Given the description of an element on the screen output the (x, y) to click on. 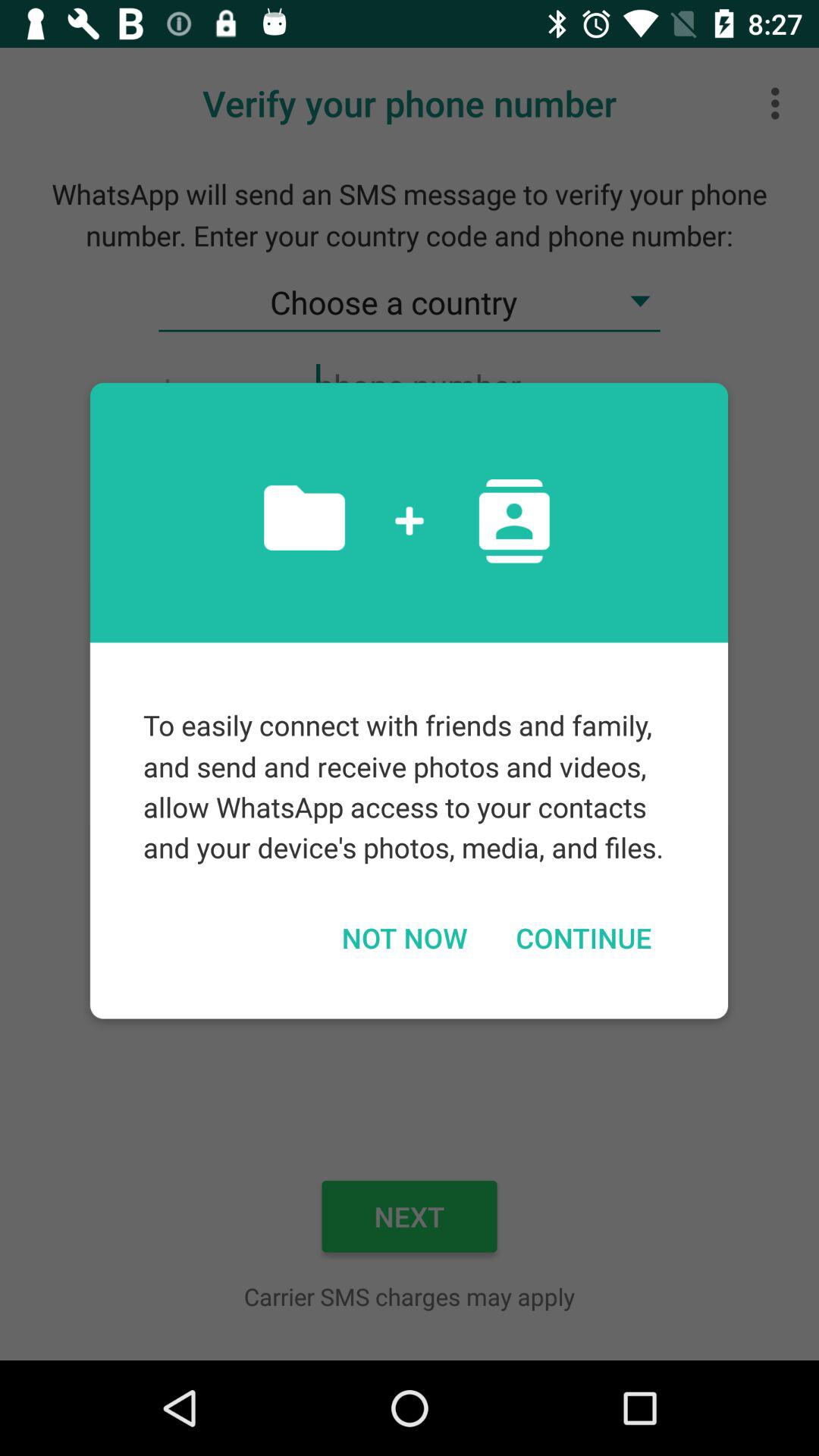
launch the item to the right of not now (583, 937)
